Given the description of an element on the screen output the (x, y) to click on. 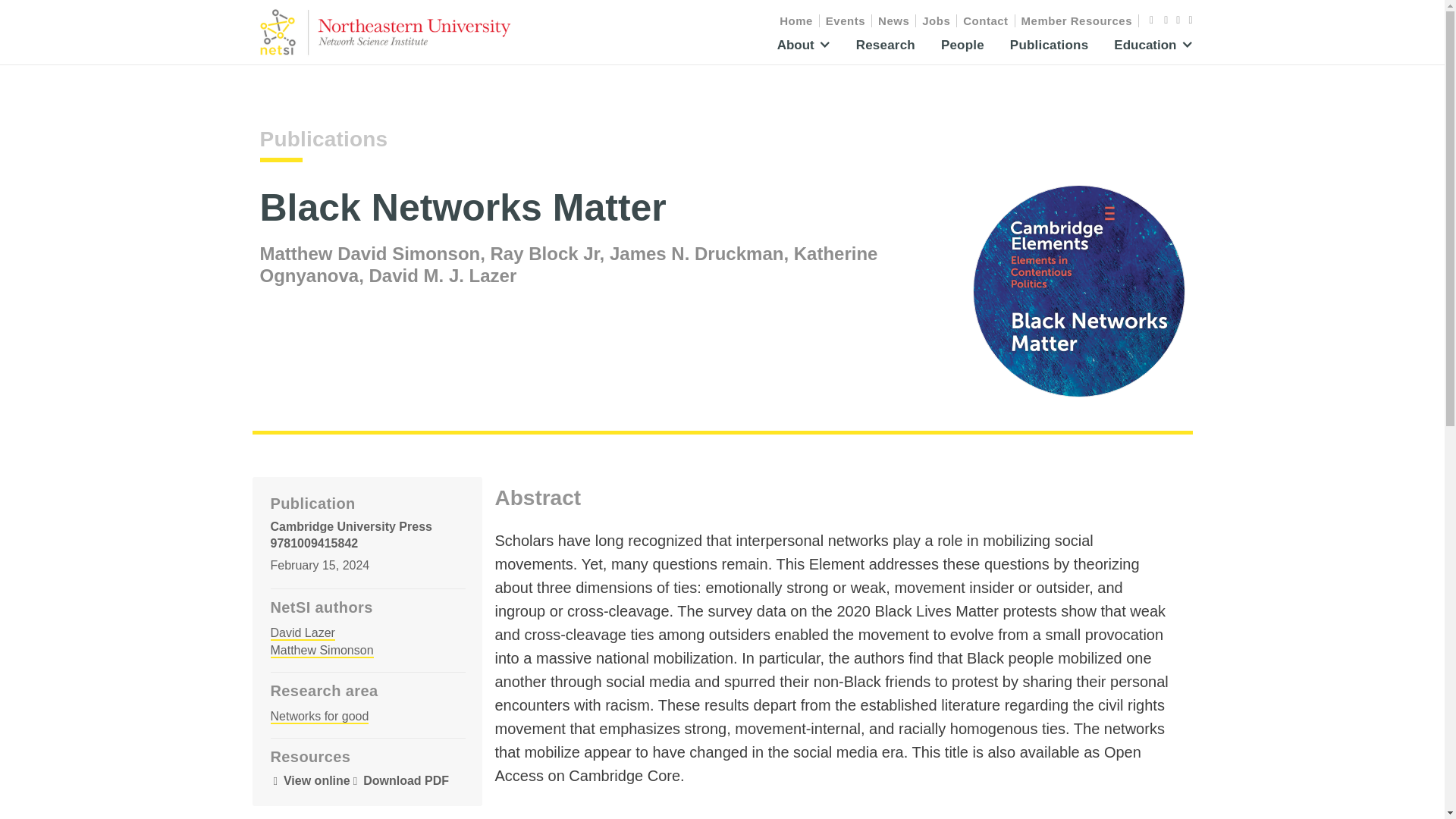
Matthew Simonson (320, 650)
Events (845, 20)
News (893, 20)
Member Resources (1076, 20)
Publications (1048, 49)
David Lazer (301, 633)
Jobs (935, 20)
Networks for good (318, 716)
Research (885, 49)
Contact (985, 20)
People (962, 49)
Home (796, 20)
Publications (323, 139)
